Given the description of an element on the screen output the (x, y) to click on. 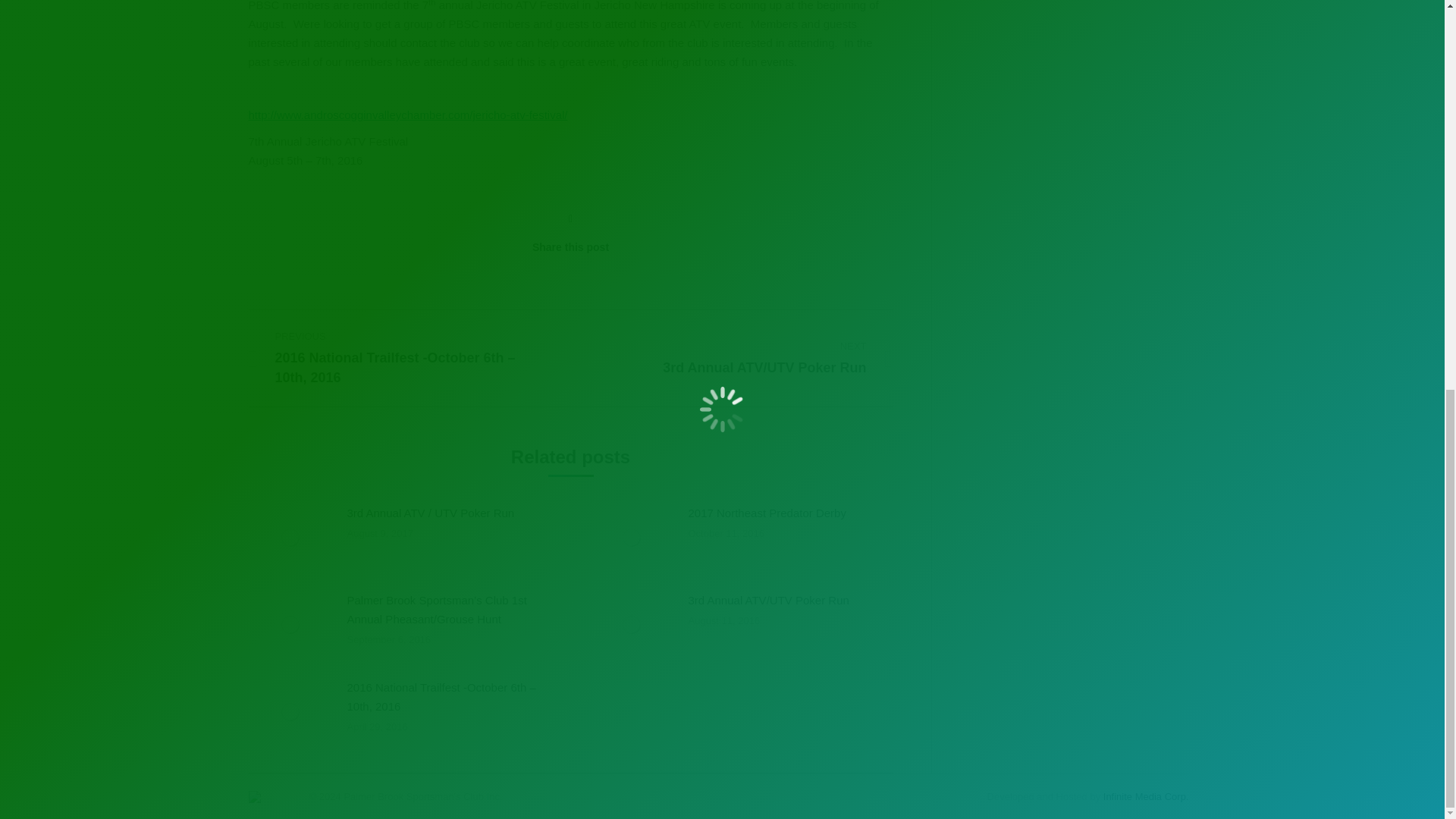
2017 Northeast Predator Derby (766, 512)
